Given the description of an element on the screen output the (x, y) to click on. 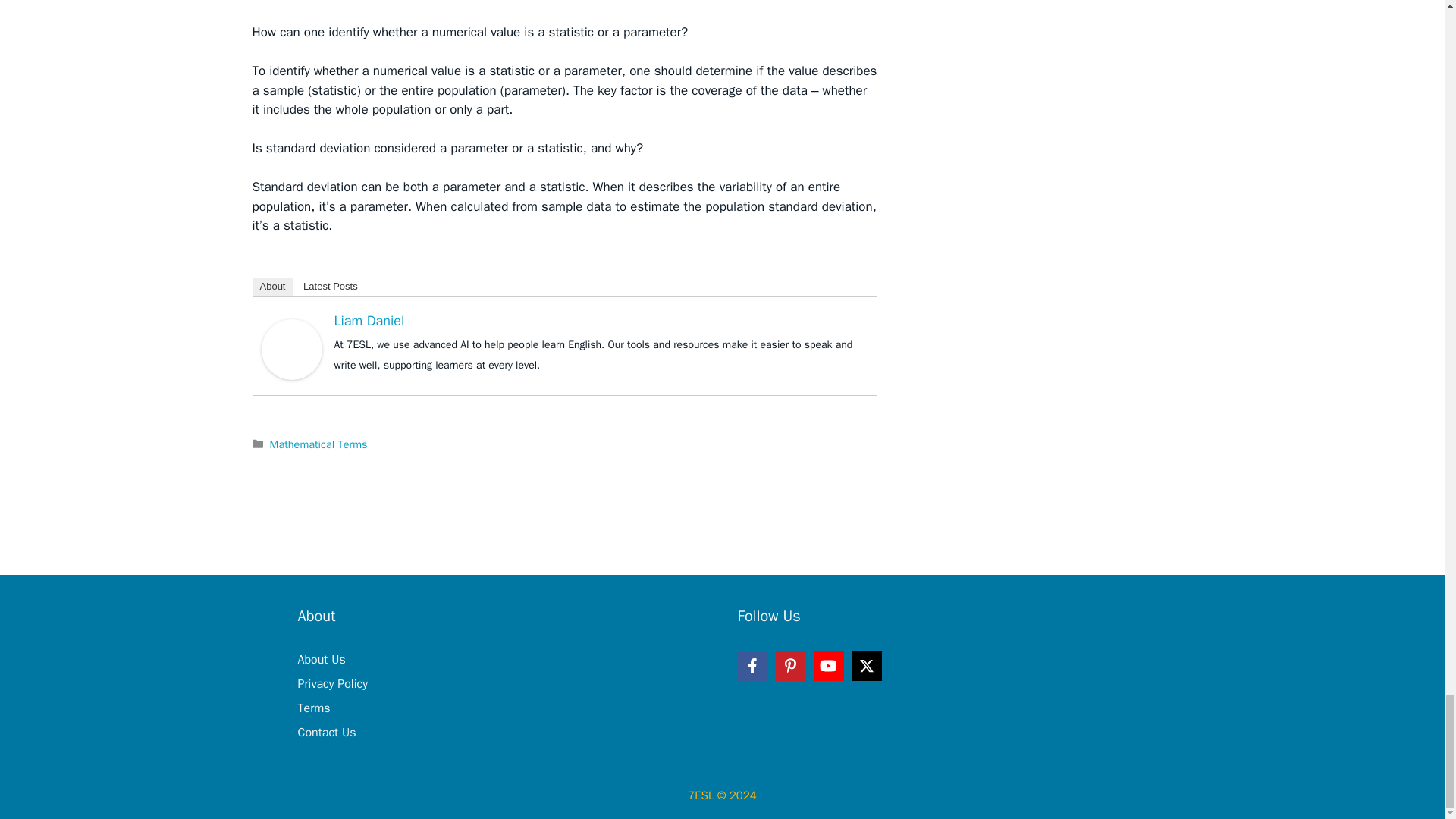
Latest Posts (330, 286)
About (271, 286)
Liam Daniel (368, 320)
Liam Daniel (290, 349)
